Given the description of an element on the screen output the (x, y) to click on. 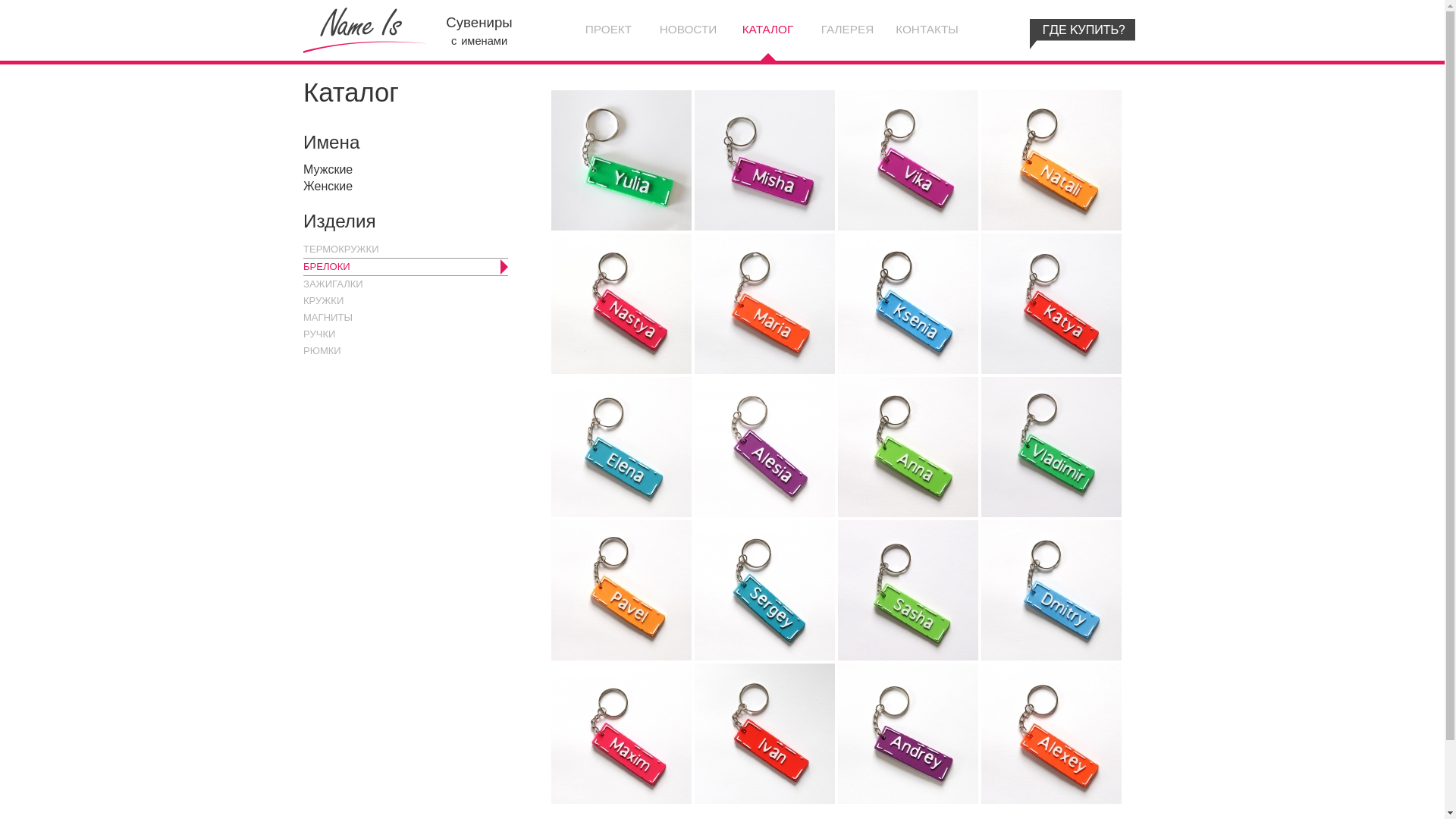
Name Is Element type: text (485, 20)
